Given the description of an element on the screen output the (x, y) to click on. 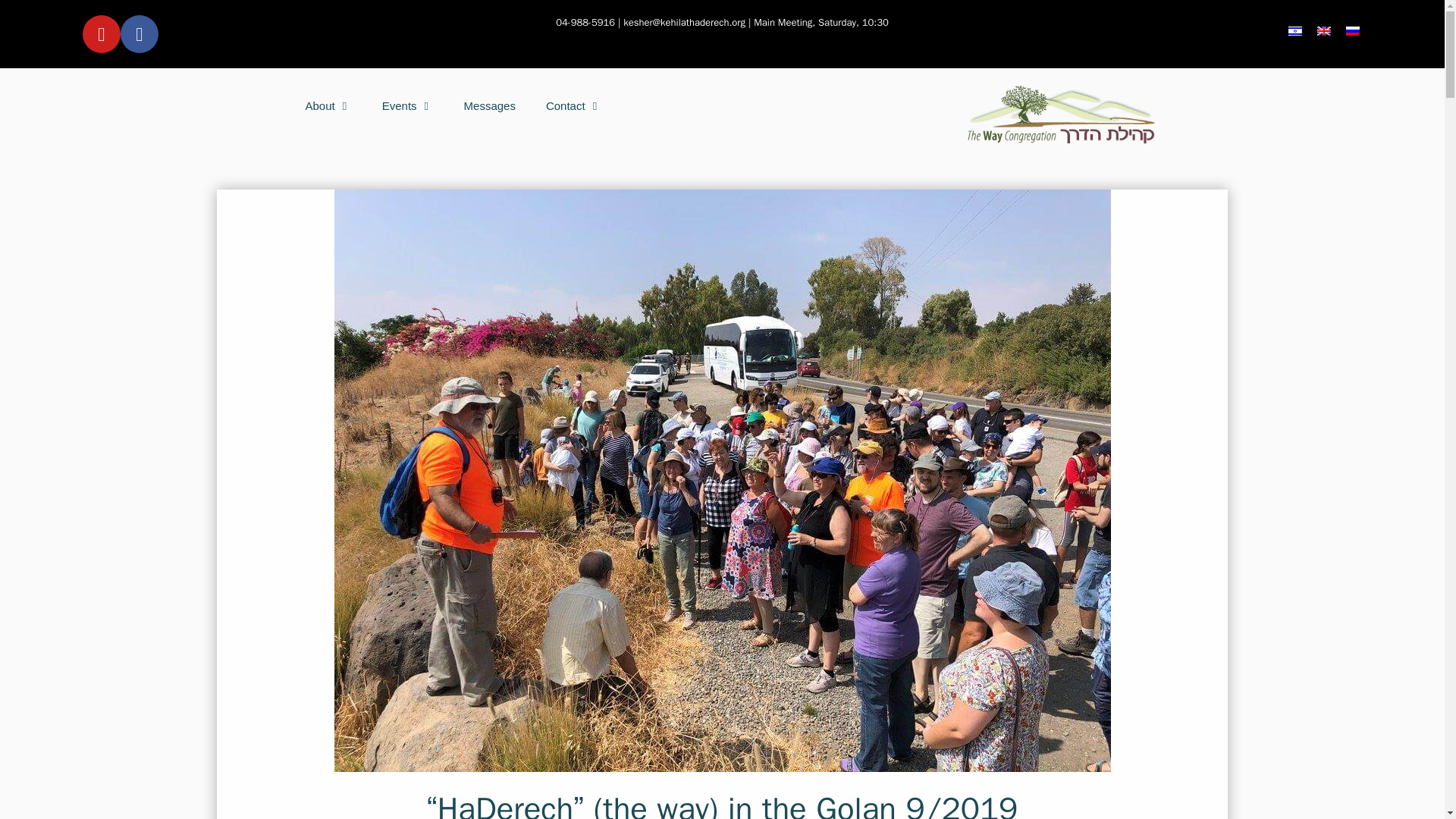
04-988-5916 (585, 21)
Messages (489, 105)
Contact (574, 105)
Events (407, 105)
About (327, 105)
